Given the description of an element on the screen output the (x, y) to click on. 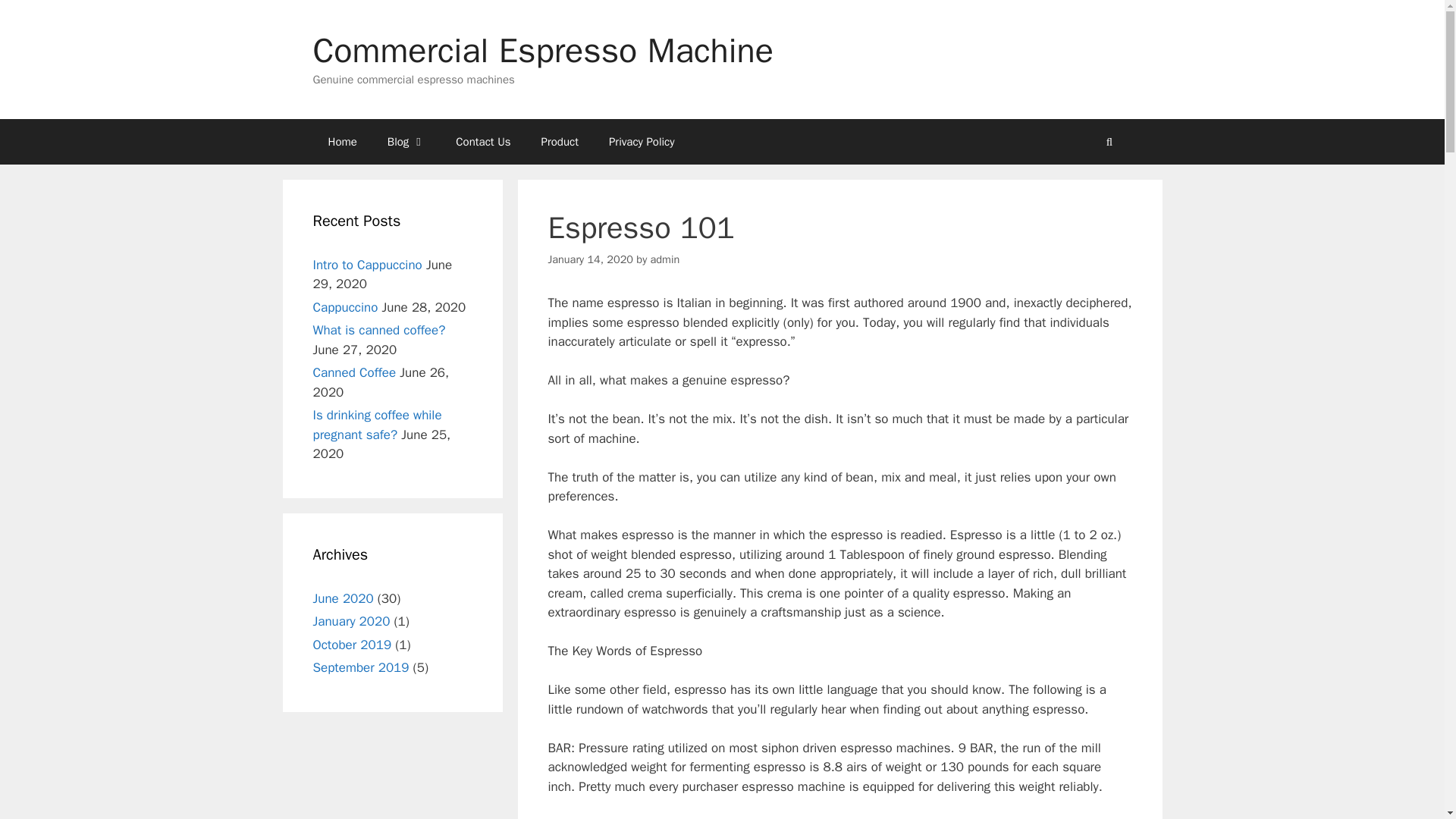
Blog (406, 140)
Contact Us (483, 140)
Privacy Policy (642, 140)
Commercial Espresso Machine (543, 50)
September 2019 (361, 667)
June 2020 (342, 597)
January 2020 (351, 621)
Product (559, 140)
Cappuccino (345, 306)
6:20 pm (590, 259)
